Given the description of an element on the screen output the (x, y) to click on. 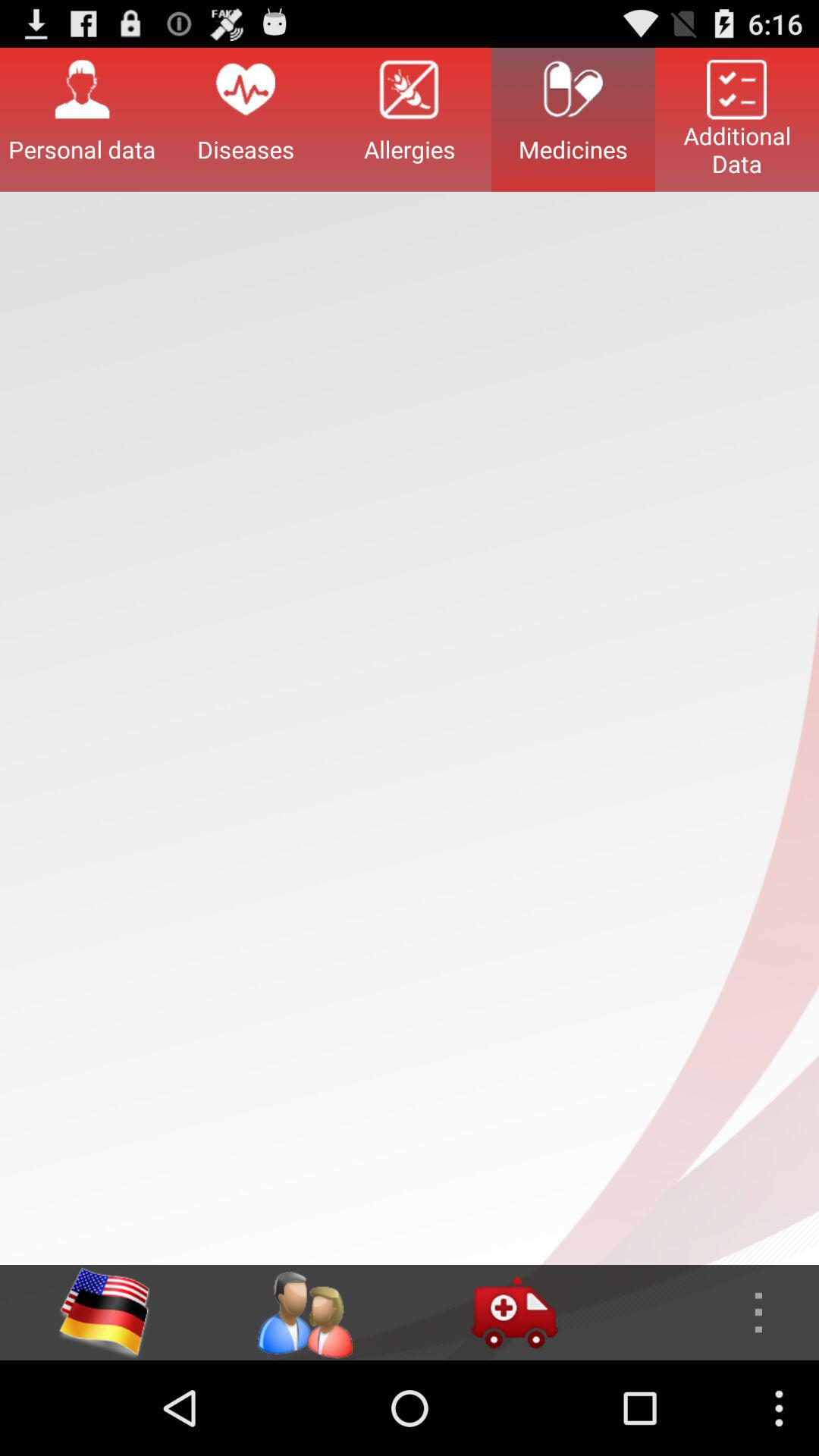
show additional options (713, 1312)
